Given the description of an element on the screen output the (x, y) to click on. 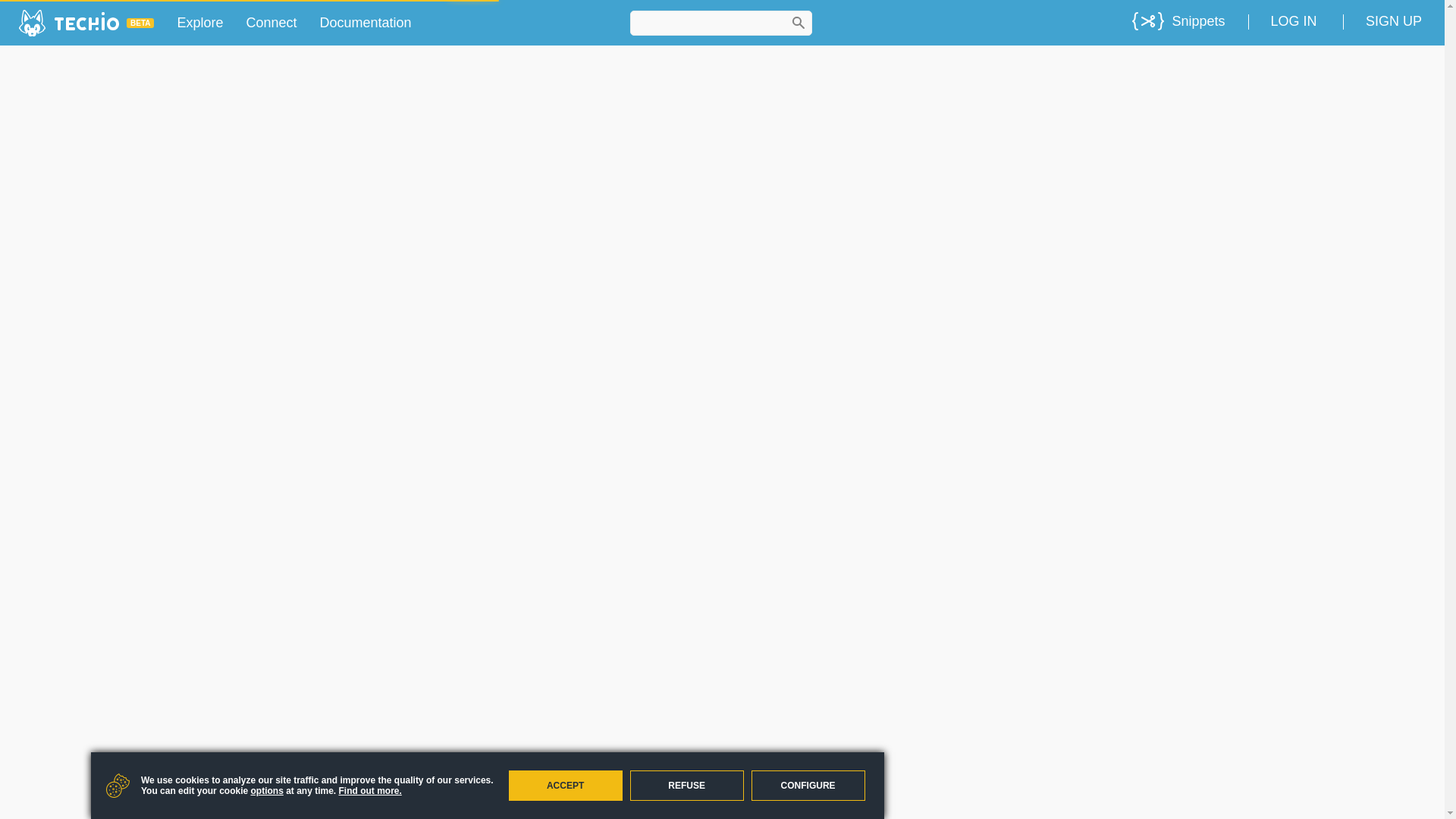
Snippets (1178, 21)
Explore (199, 22)
ACCEPT (565, 785)
REFUSE (687, 785)
Documentation (365, 22)
Find out more. (370, 790)
Connect (271, 22)
LOG IN (1293, 21)
CONFIGURE (807, 785)
options (266, 790)
